Given the description of an element on the screen output the (x, y) to click on. 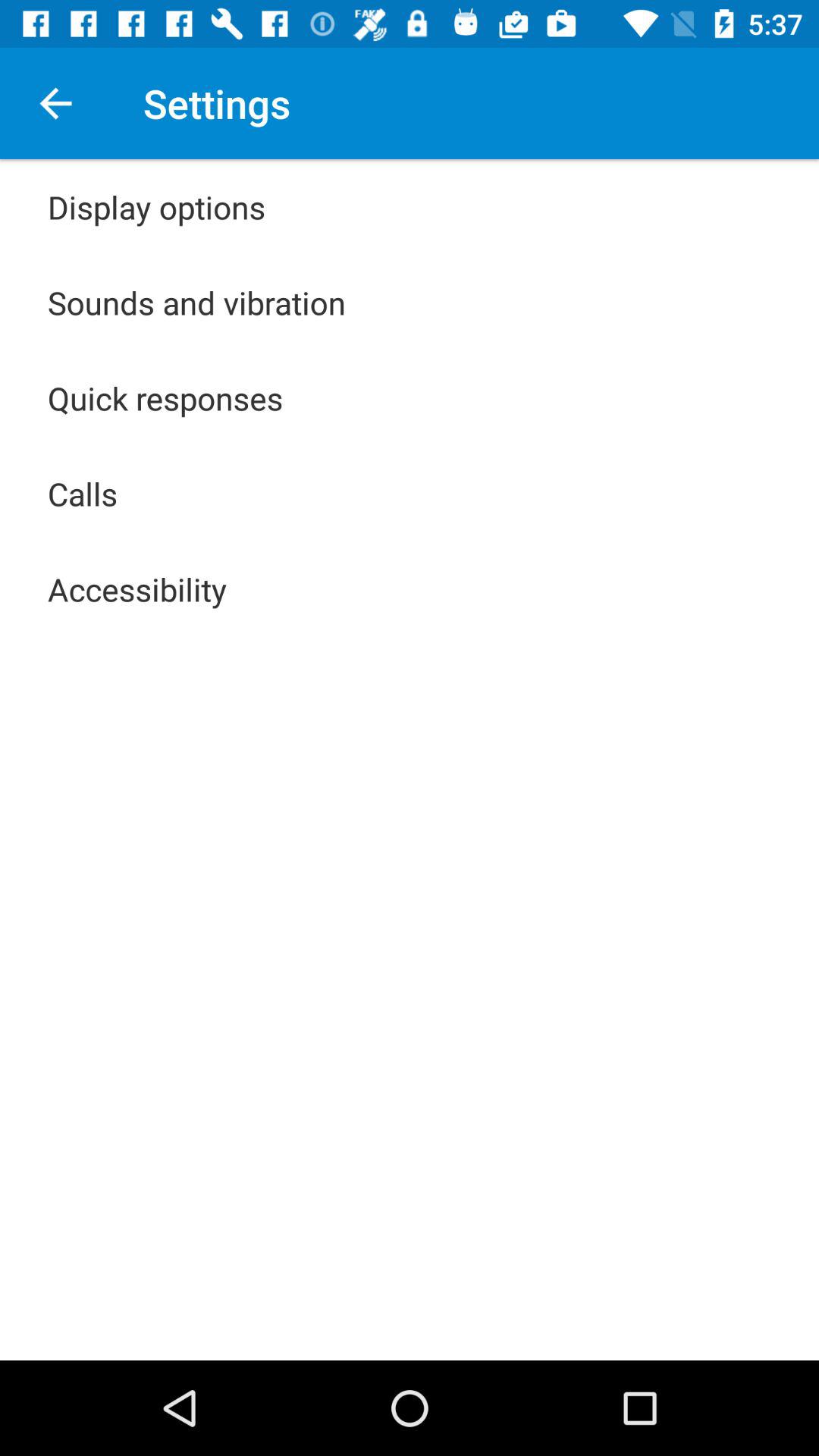
open item above the accessibility app (82, 493)
